Given the description of an element on the screen output the (x, y) to click on. 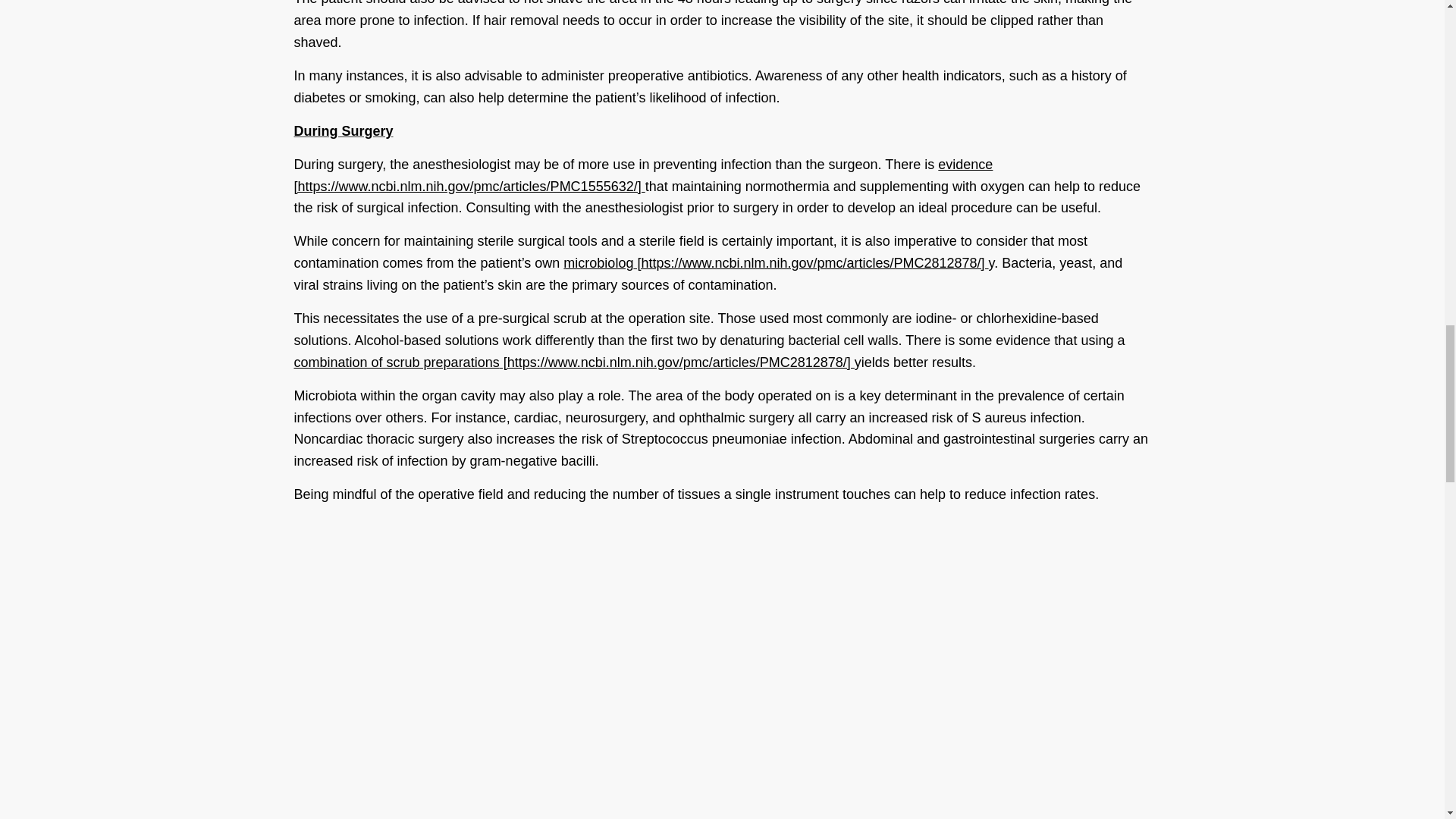
combination of scrub preparations (574, 362)
evidence (643, 175)
microbiolog (775, 263)
